Given the description of an element on the screen output the (x, y) to click on. 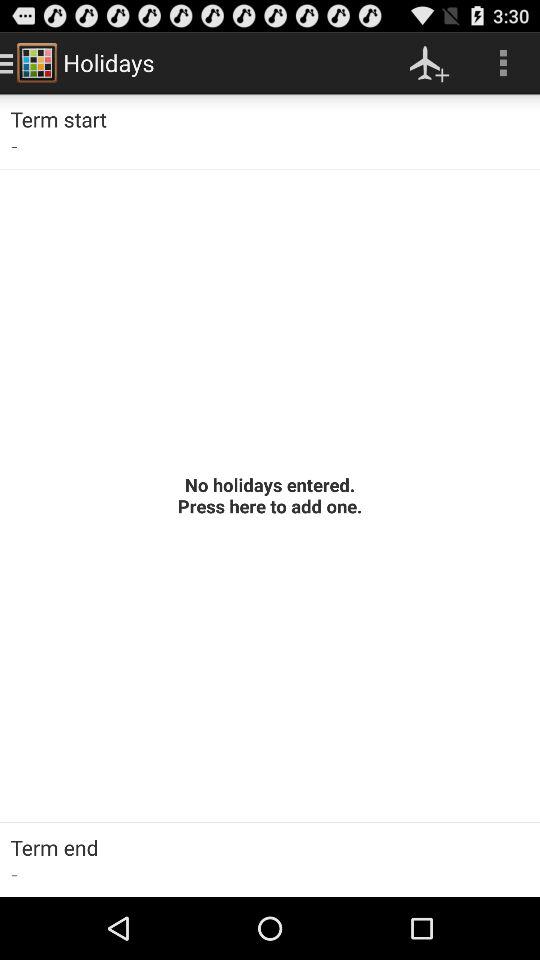
choose icon at the center (270, 495)
